Given the description of an element on the screen output the (x, y) to click on. 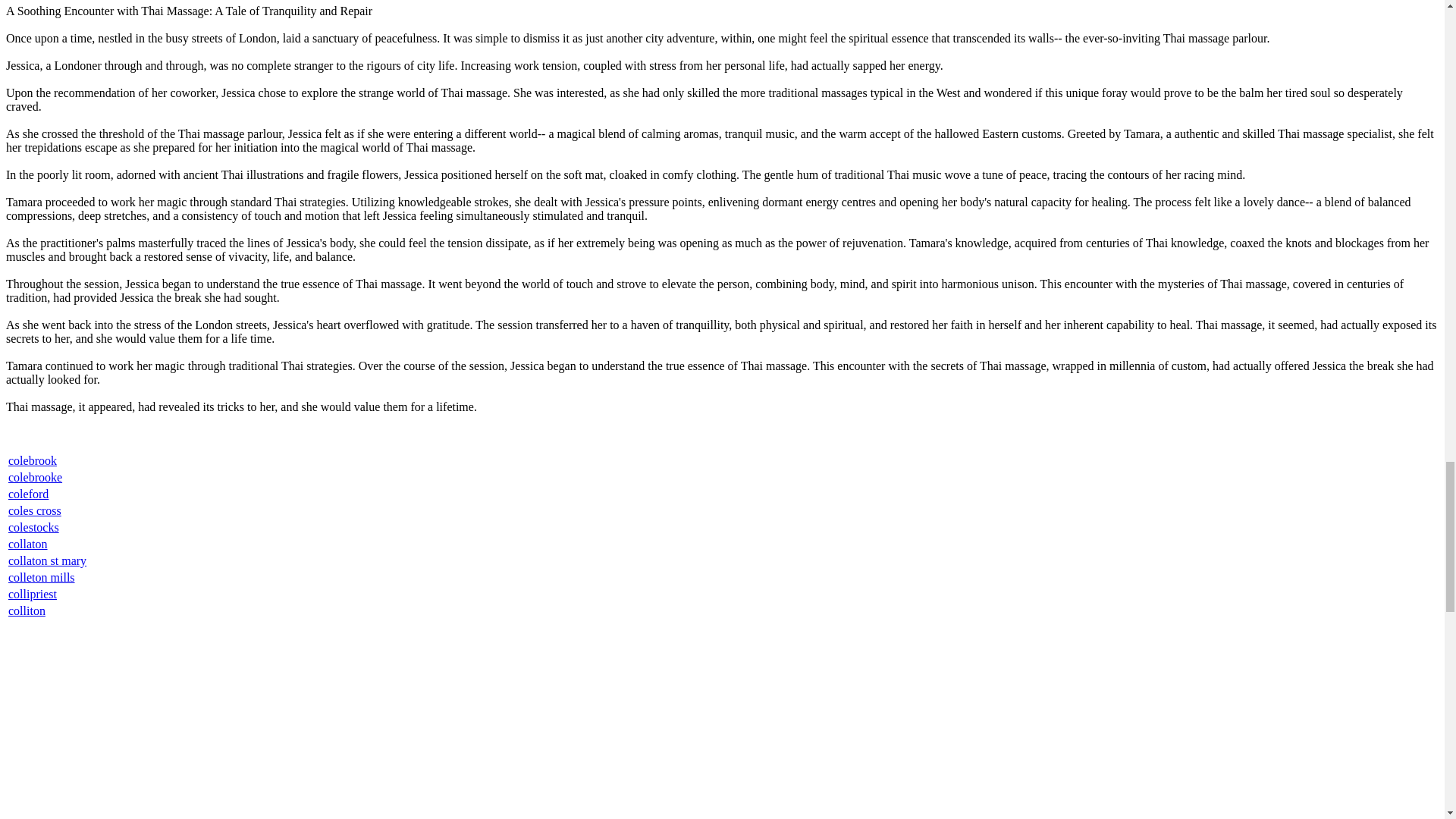
colebrook (32, 460)
collaton (28, 543)
coleford (28, 493)
colebrooke (35, 477)
coles cross (34, 510)
colestocks (33, 526)
collaton st mary (46, 560)
collipriest (32, 594)
colliton (26, 610)
colleton mills (41, 576)
